Given the description of an element on the screen output the (x, y) to click on. 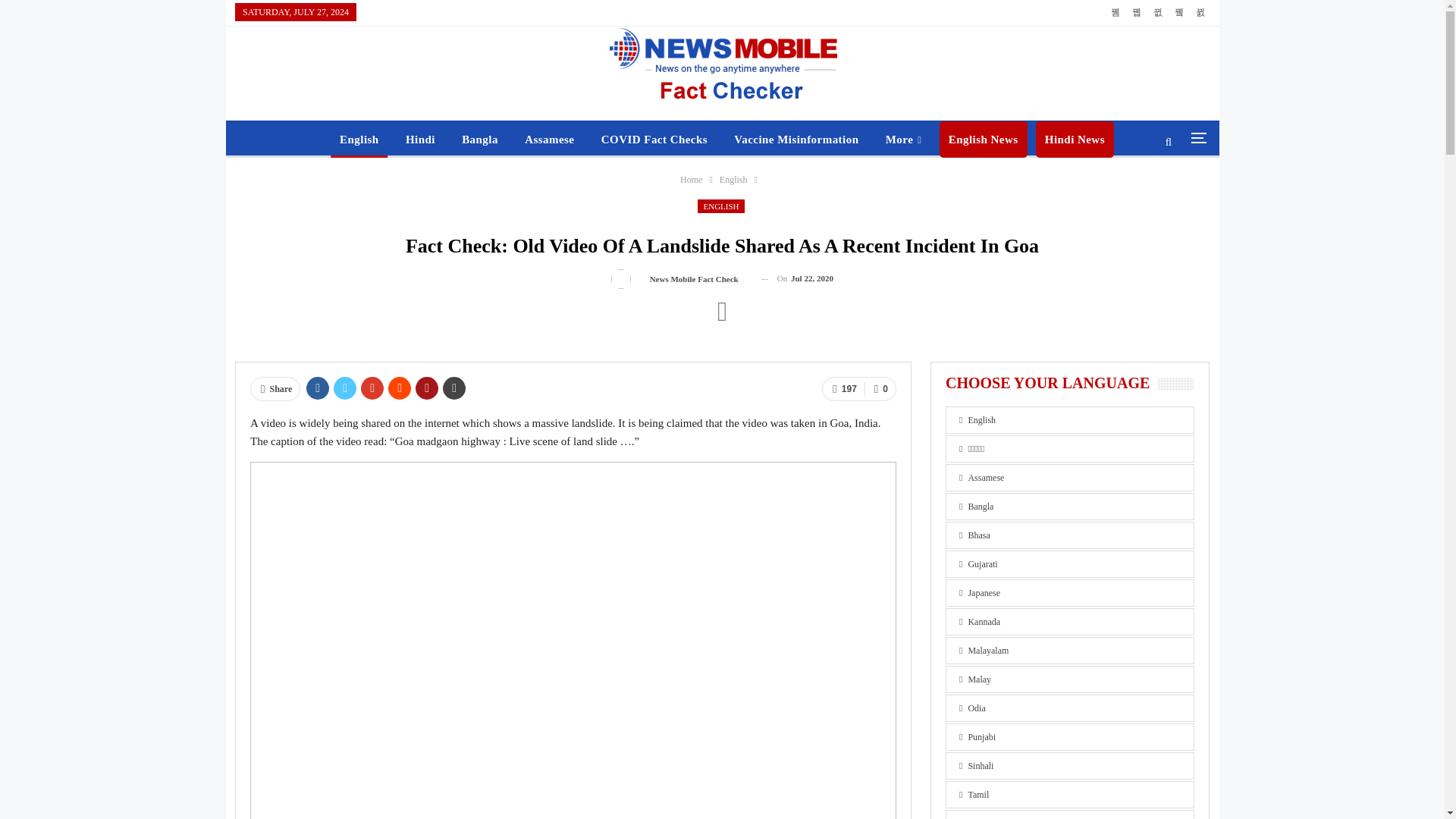
COVID Fact Checks (654, 139)
Vaccine Misinformation (796, 139)
Bangla (479, 139)
More (903, 139)
English (359, 139)
Assamese (549, 139)
Browse Author Articles (680, 278)
Hindi (420, 139)
